Given the description of an element on the screen output the (x, y) to click on. 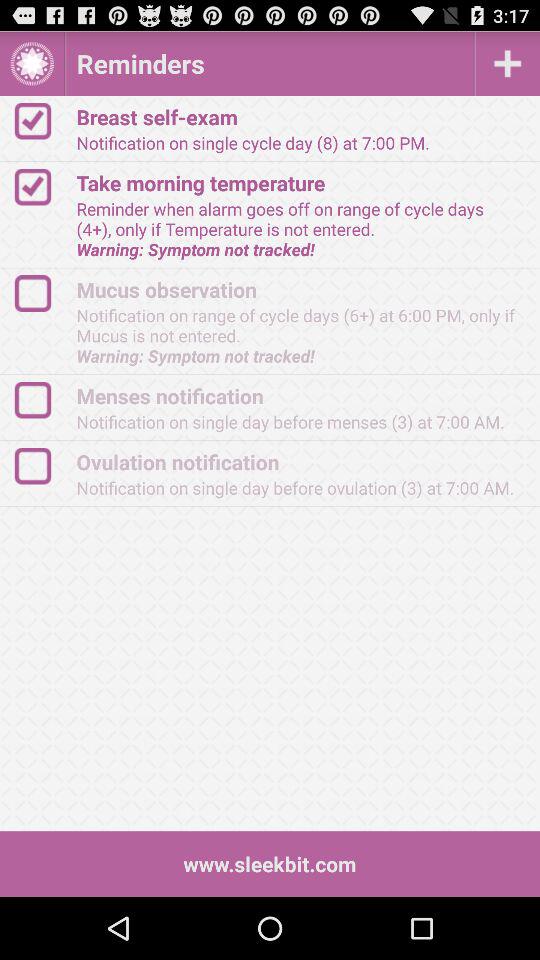
notification option (41, 465)
